Given the description of an element on the screen output the (x, y) to click on. 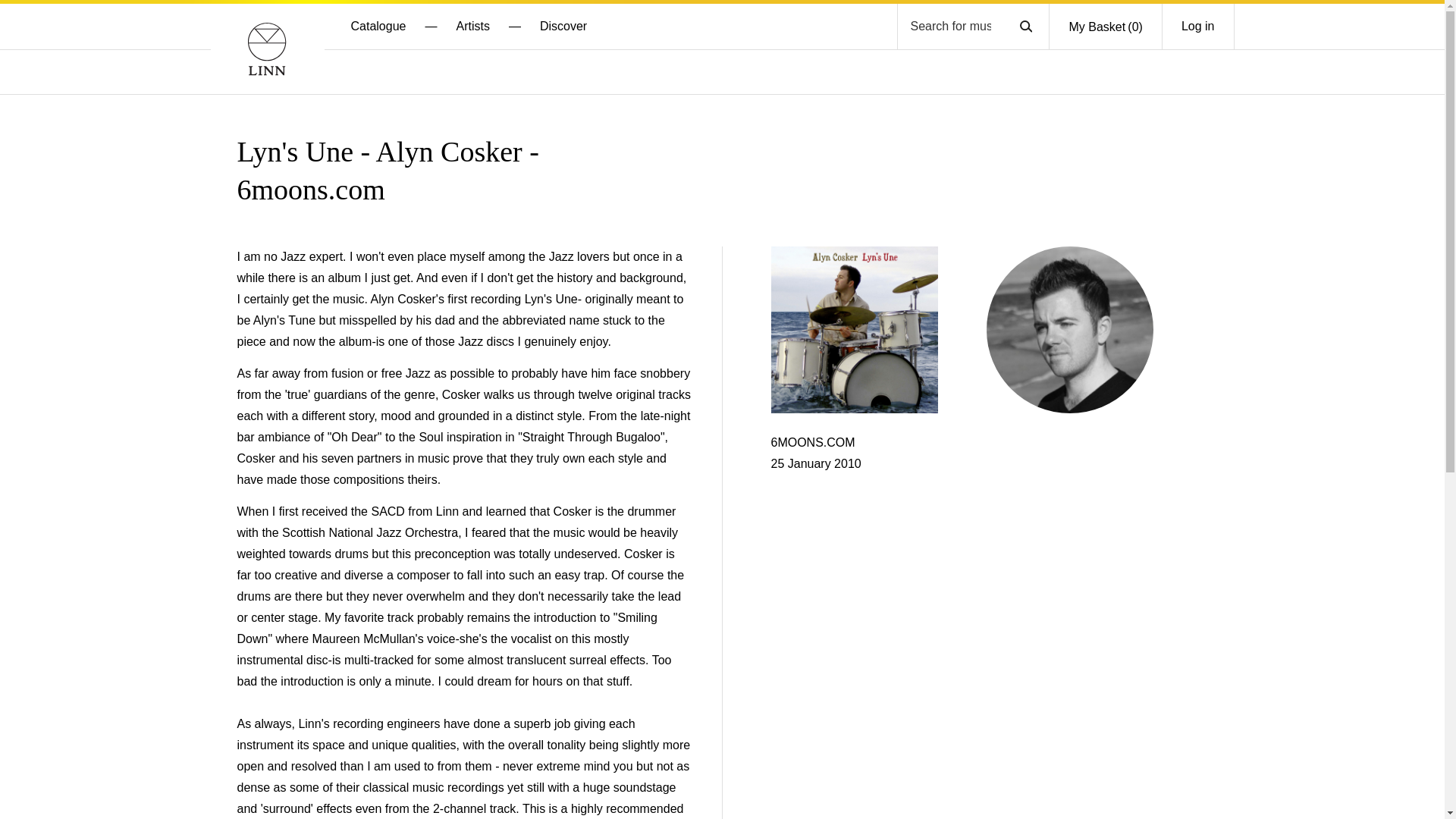
Discover (563, 25)
Search (1025, 26)
My Basket0 (1104, 27)
Catalogue (378, 25)
Artists (472, 25)
Search (1025, 26)
Log in (1197, 26)
